Given the description of an element on the screen output the (x, y) to click on. 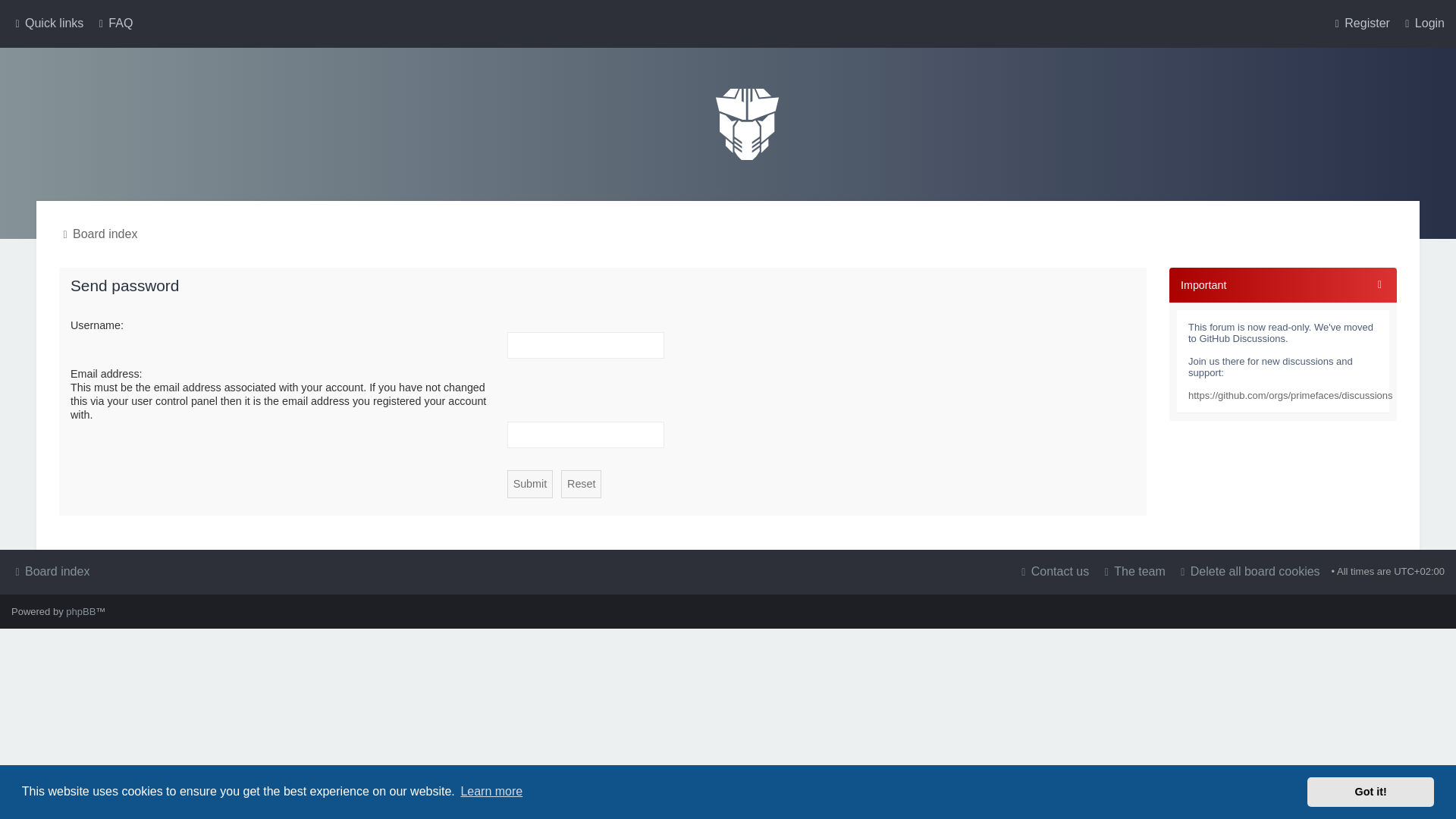
Got it! (1370, 791)
Board index (747, 123)
Board index (49, 571)
Delete all board cookies (1248, 571)
Board index (49, 571)
FAQ (113, 23)
Login (1422, 23)
phpBB (80, 611)
Submit (529, 483)
Board index (97, 233)
Reset (580, 483)
Login (1422, 23)
Submit (529, 483)
Contact us (1053, 571)
Quick links (46, 23)
